Given the description of an element on the screen output the (x, y) to click on. 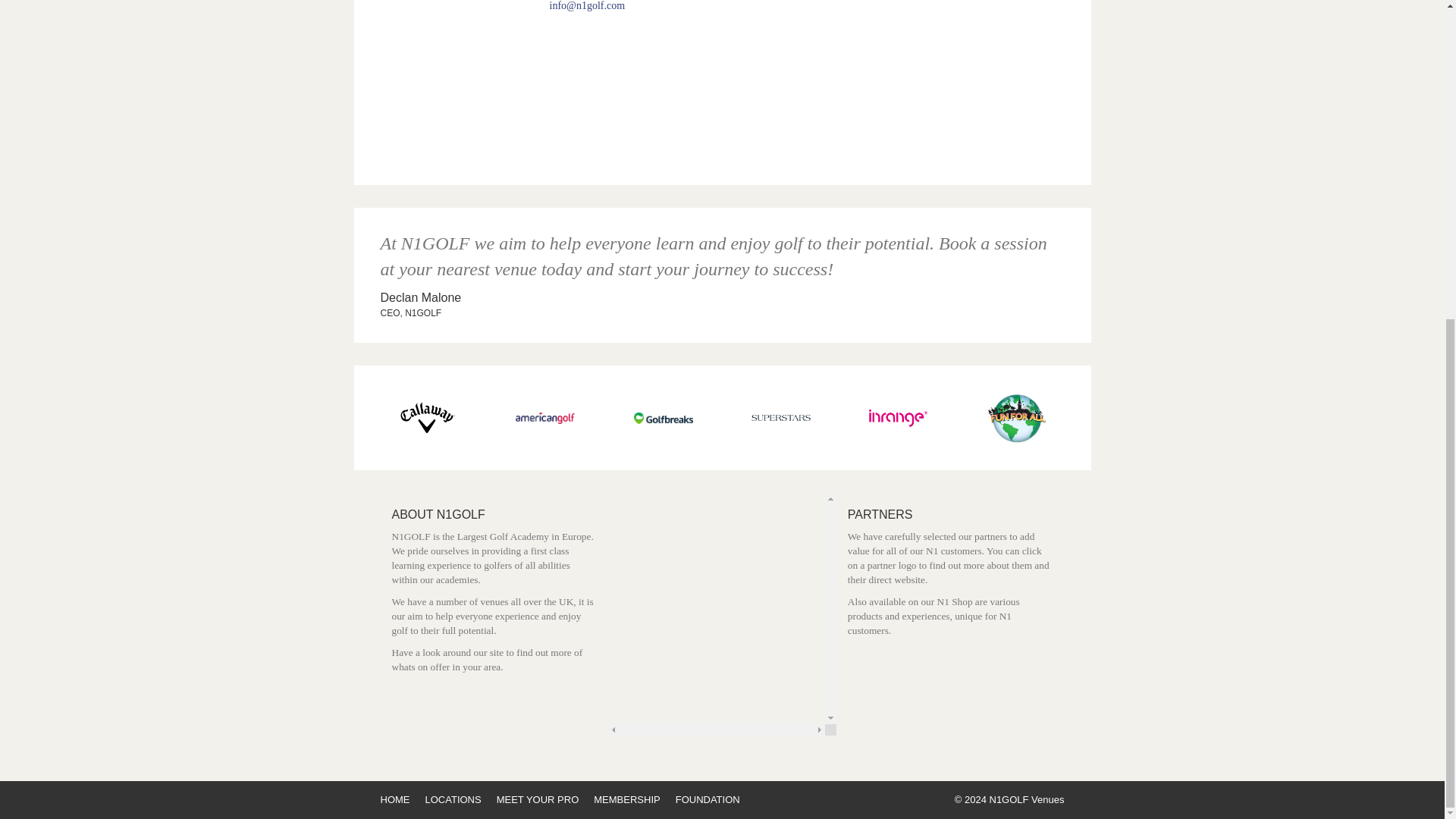
LOCATIONS (452, 799)
HOME (395, 799)
